Given the description of an element on the screen output the (x, y) to click on. 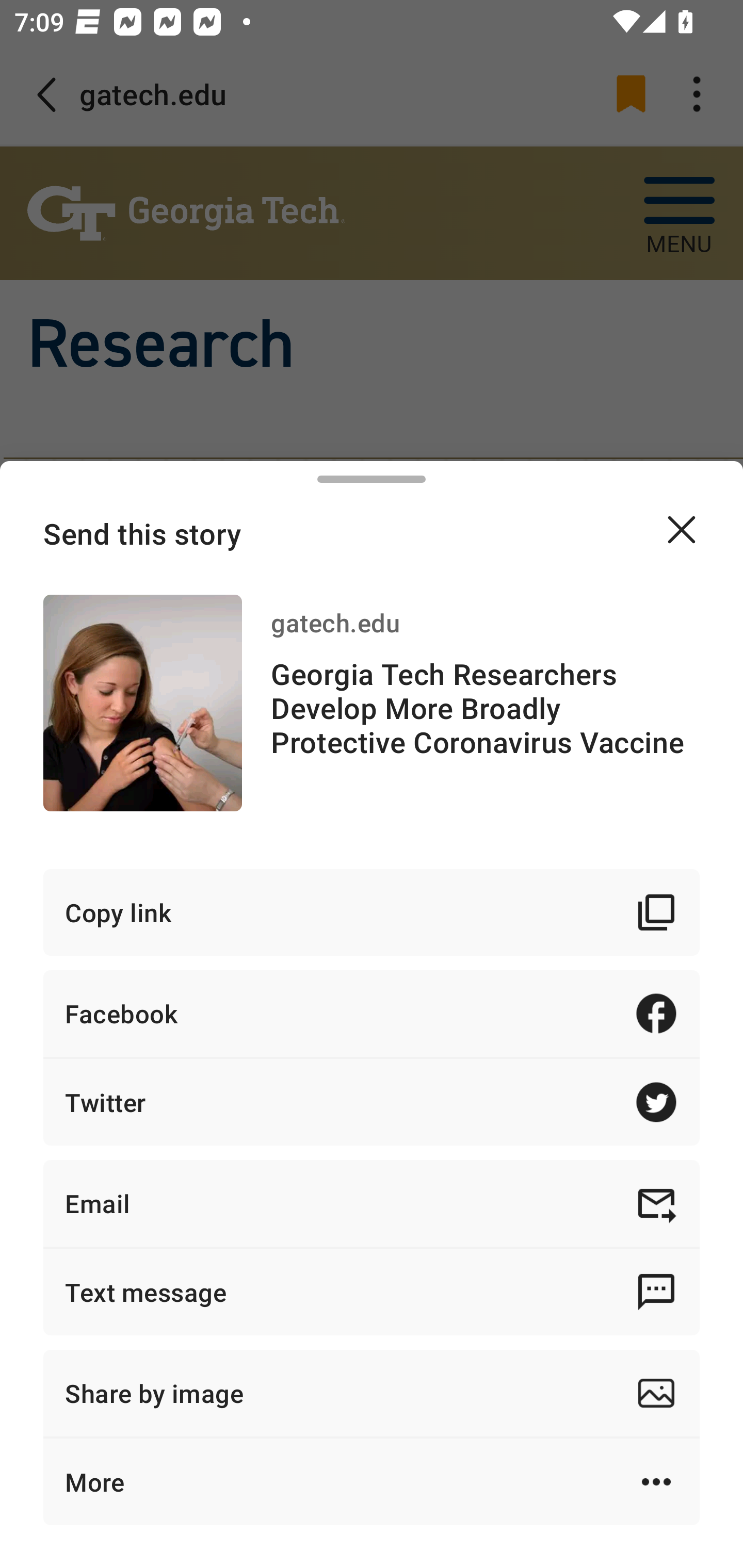
Copy link (371, 912)
Facebook (371, 1013)
Twitter (371, 1102)
Email (371, 1203)
Text message (371, 1291)
Share by image (371, 1393)
More (371, 1481)
